Given the description of an element on the screen output the (x, y) to click on. 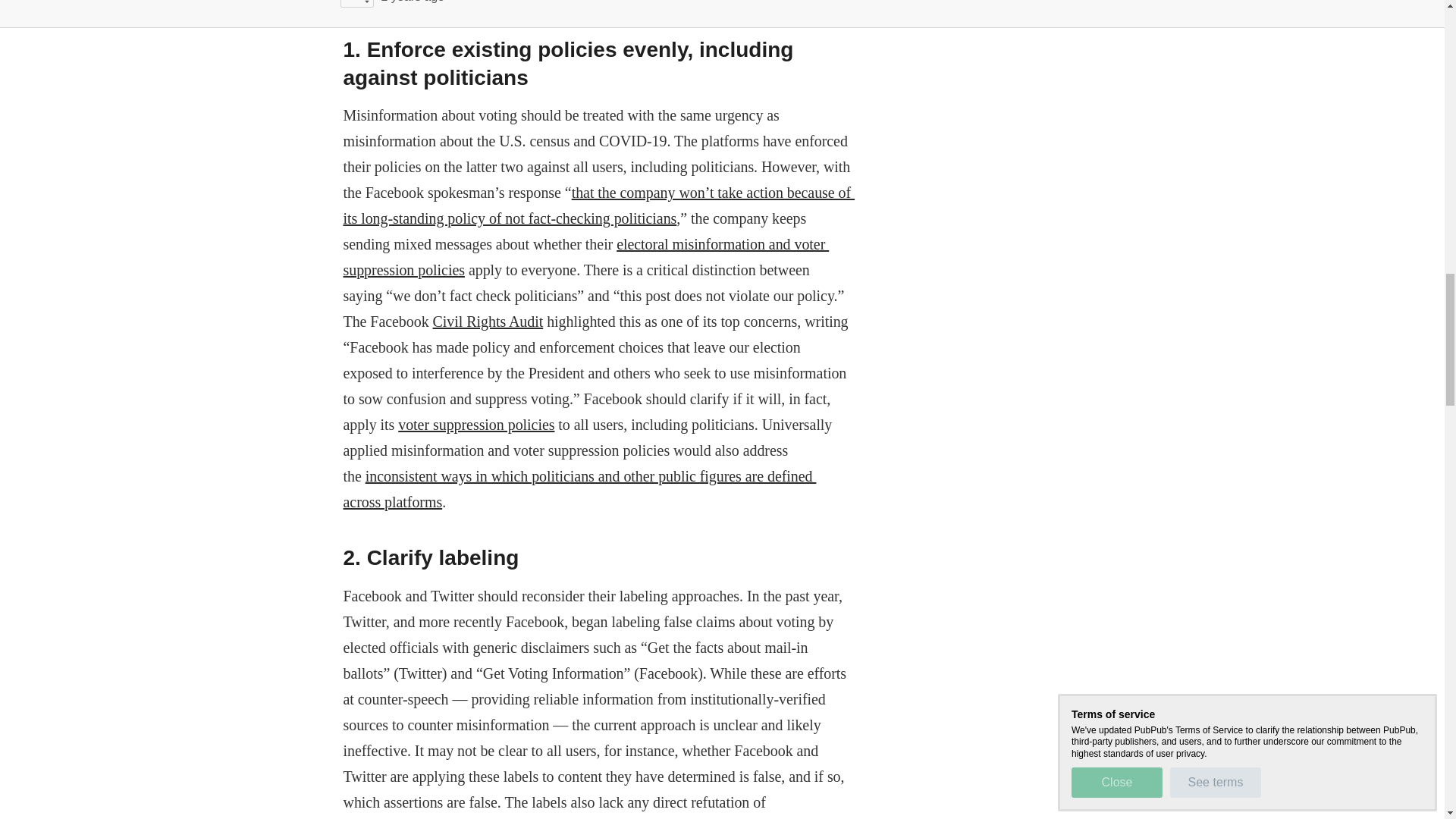
electoral misinformation and voter suppression policies (585, 256)
voter suppression policies (475, 424)
Civil Rights Audit (487, 321)
